Given the description of an element on the screen output the (x, y) to click on. 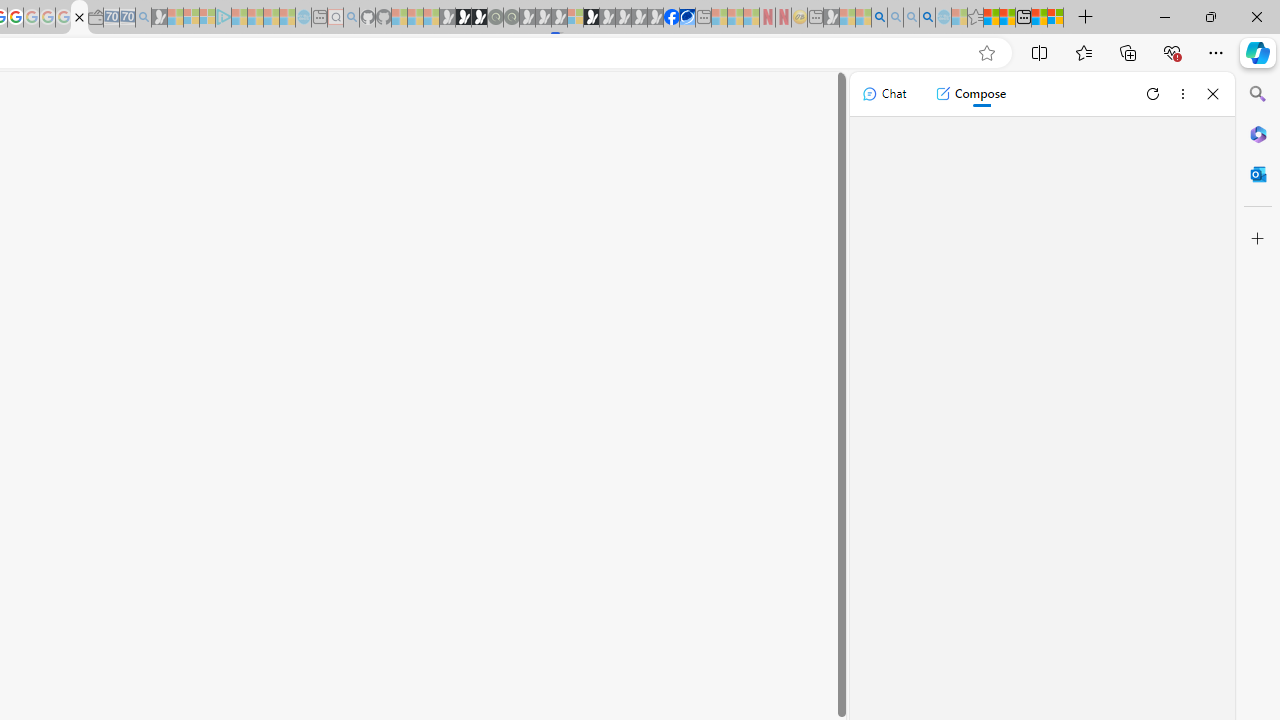
Google Chrome Internet Browser Download - Search Images (927, 17)
Microsoft Start Gaming - Sleeping (159, 17)
Nordace | Facebook (671, 17)
Sign in to your account - Sleeping (575, 17)
